Given the description of an element on the screen output the (x, y) to click on. 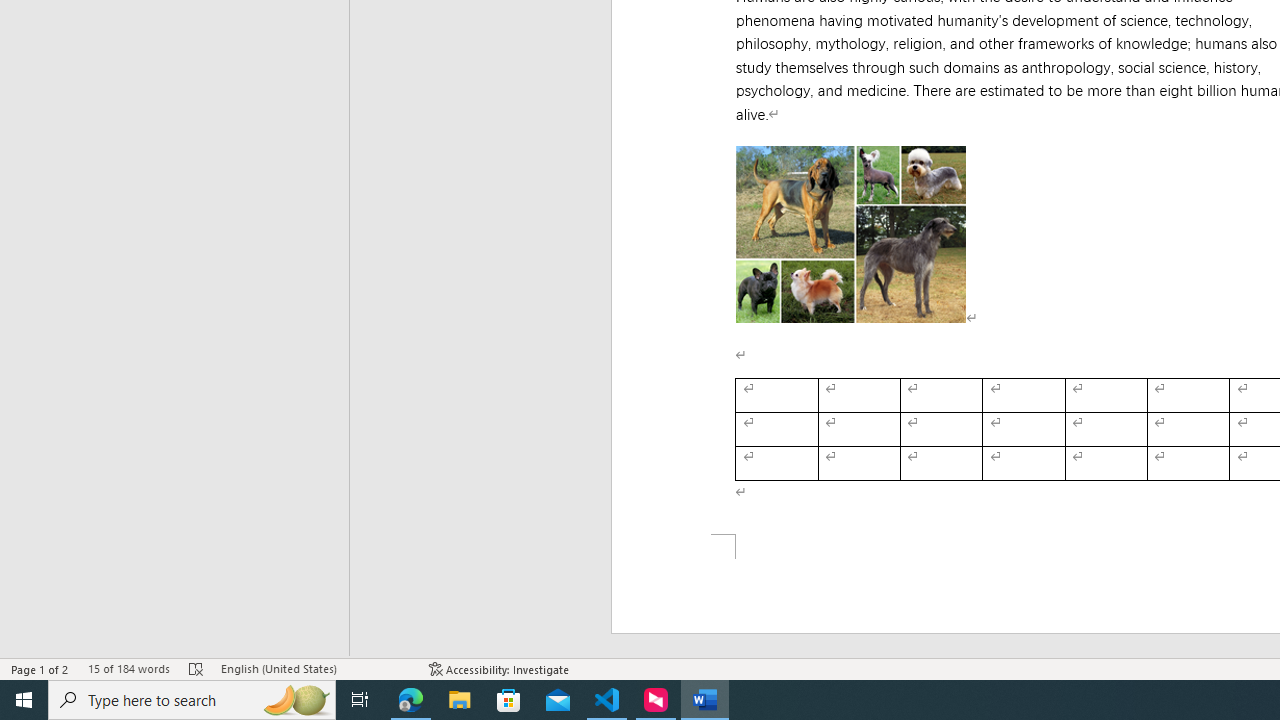
Page Number Page 1 of 2 (39, 668)
Word Count 15 of 184 words (128, 668)
